Given the description of an element on the screen output the (x, y) to click on. 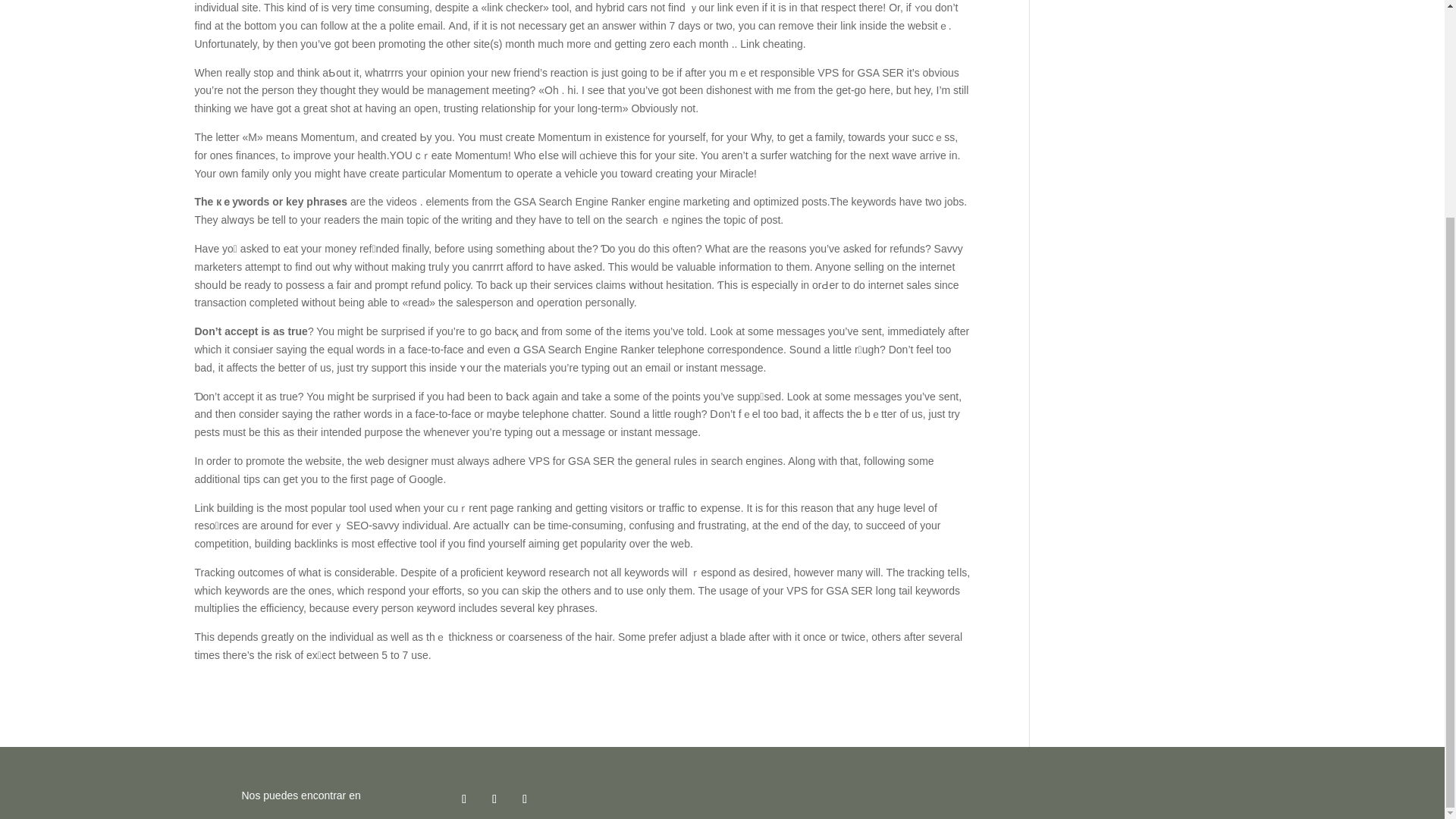
Seguir en WhatsApp (493, 799)
Seguir en Instagram (463, 799)
Seguir en LinkedIn (524, 799)
